Given the description of an element on the screen output the (x, y) to click on. 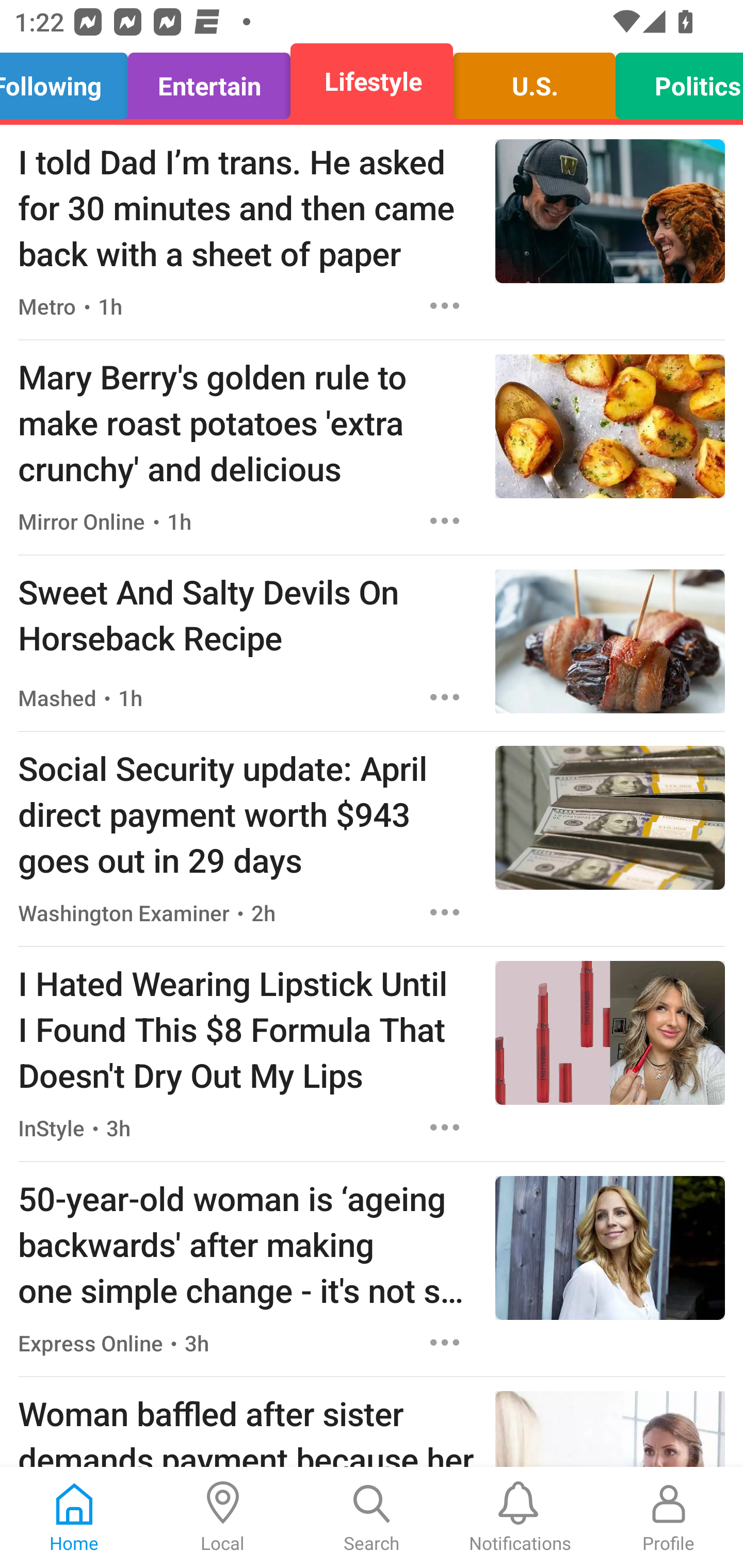
Entertain (209, 81)
Lifestyle (371, 81)
U.S. (534, 81)
Politics (673, 81)
Options (444, 305)
Options (444, 520)
Options (444, 697)
Options (444, 912)
Options (444, 1127)
Options (444, 1342)
Local (222, 1517)
Search (371, 1517)
Notifications (519, 1517)
Profile (668, 1517)
